Given the description of an element on the screen output the (x, y) to click on. 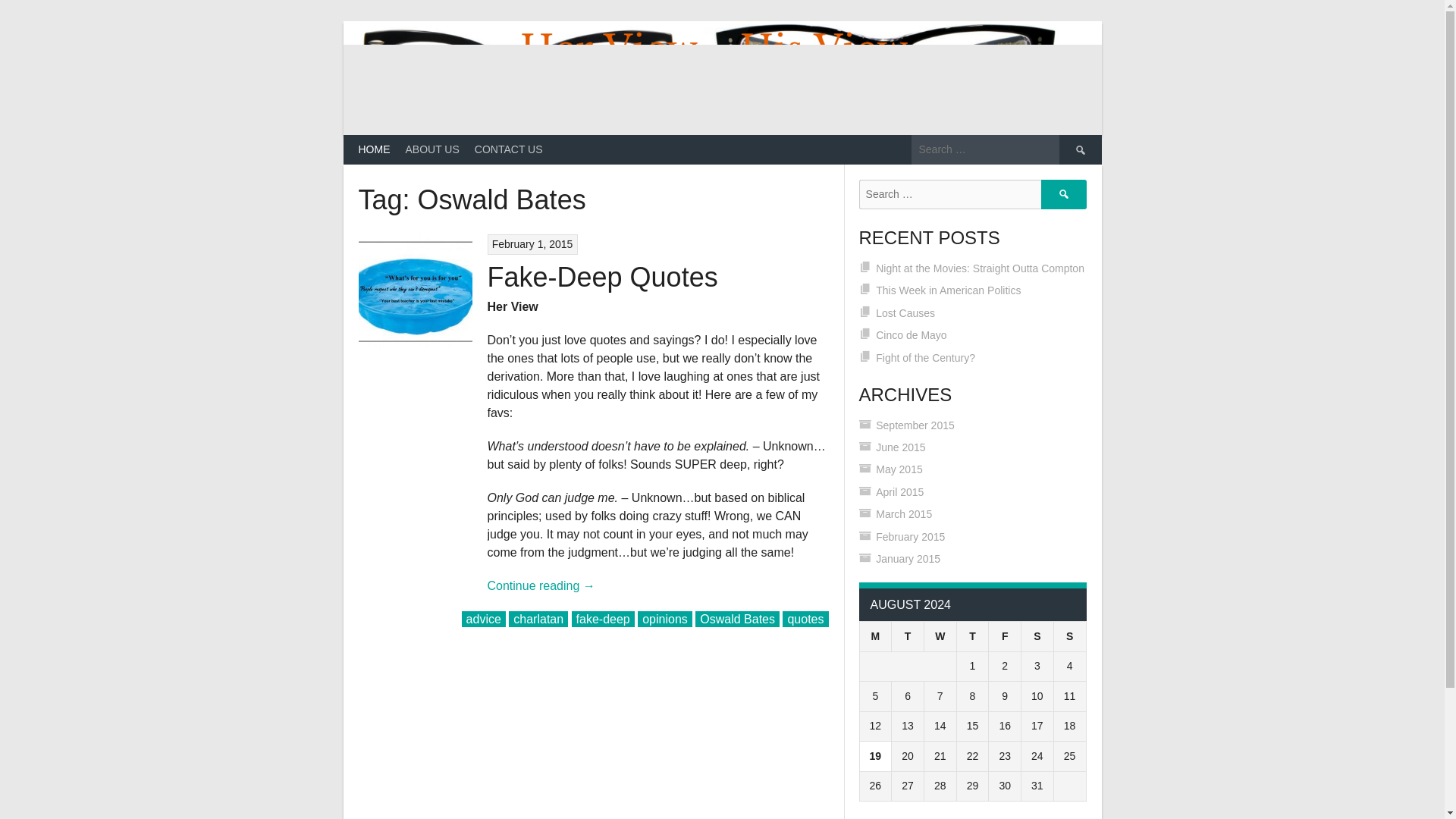
May 2015 (898, 469)
Oswald Bates (736, 618)
CONTACT US (508, 149)
September 2015 (915, 425)
advice (483, 618)
opinions (665, 618)
Thursday (972, 636)
Cinco de Mayo (911, 335)
Monday (875, 636)
June 2015 (900, 447)
